Given the description of an element on the screen output the (x, y) to click on. 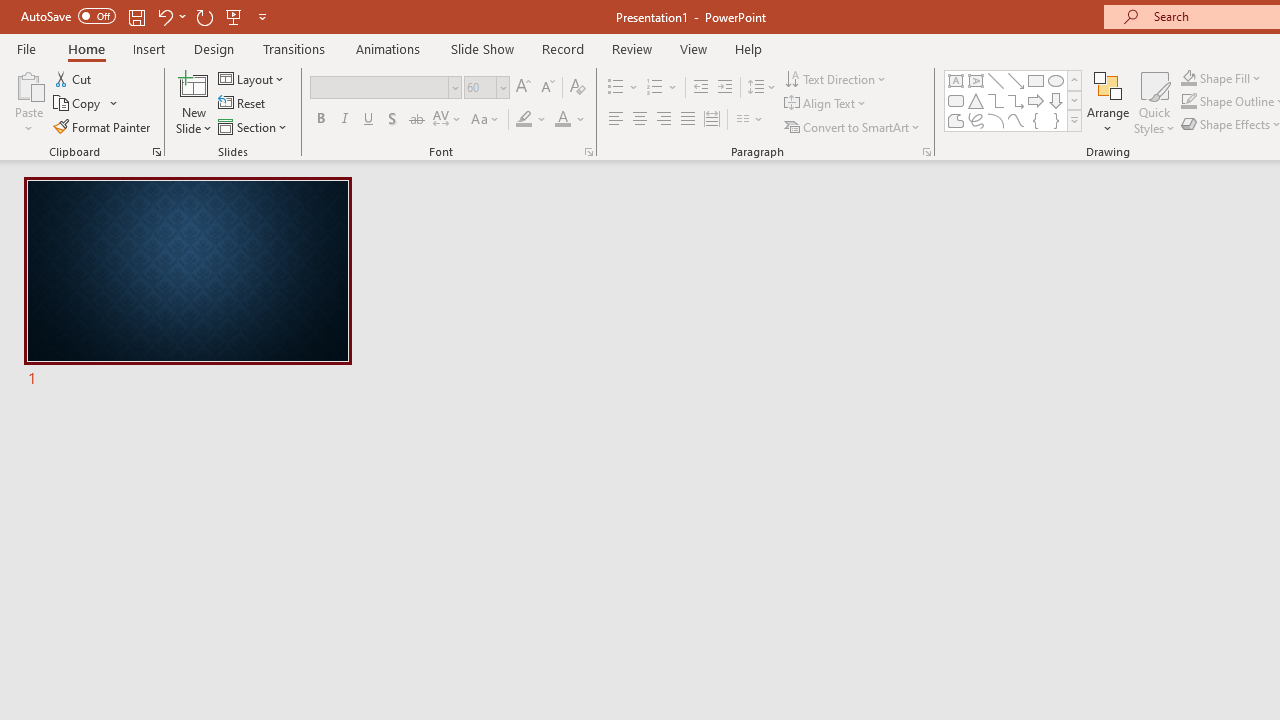
Shape Outline Blue, Accent 1 (1188, 101)
